Given the description of an element on the screen output the (x, y) to click on. 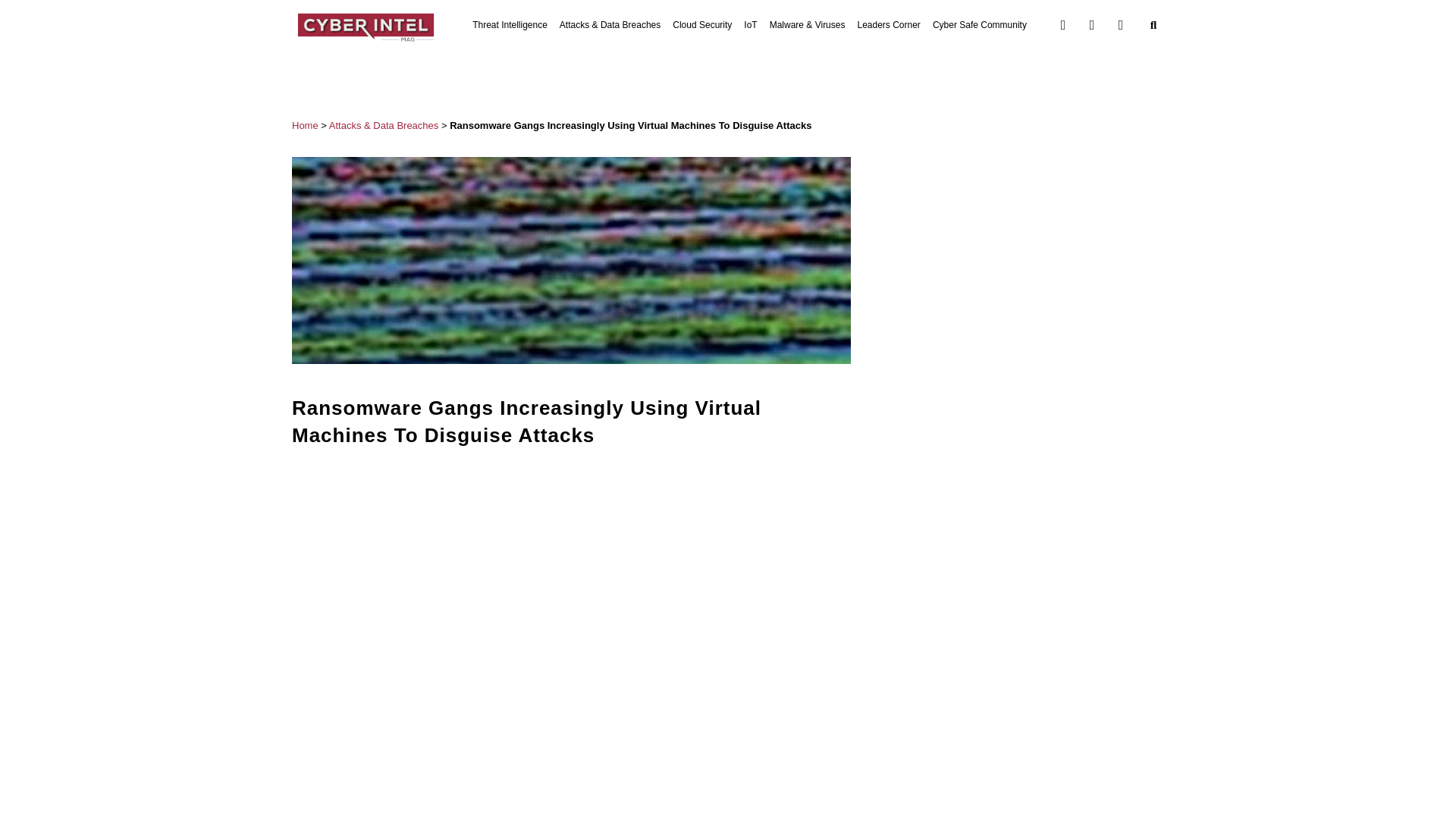
Home (305, 125)
Cyber Safe Community (979, 24)
Leaders Corner (888, 24)
Threat Intelligence (509, 24)
Cloud Security (702, 24)
